Given the description of an element on the screen output the (x, y) to click on. 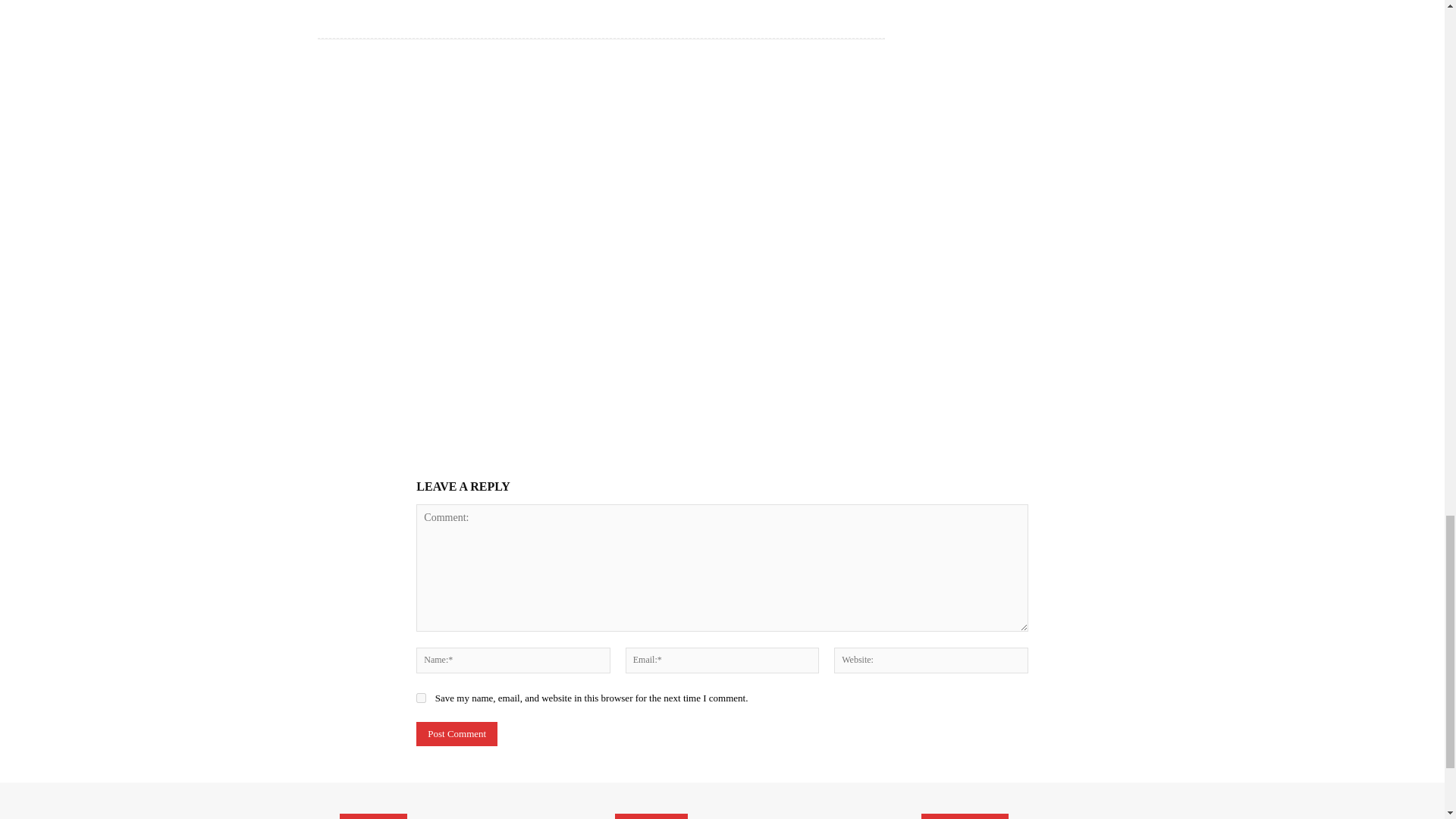
Post Comment (456, 733)
yes (421, 697)
